Given the description of an element on the screen output the (x, y) to click on. 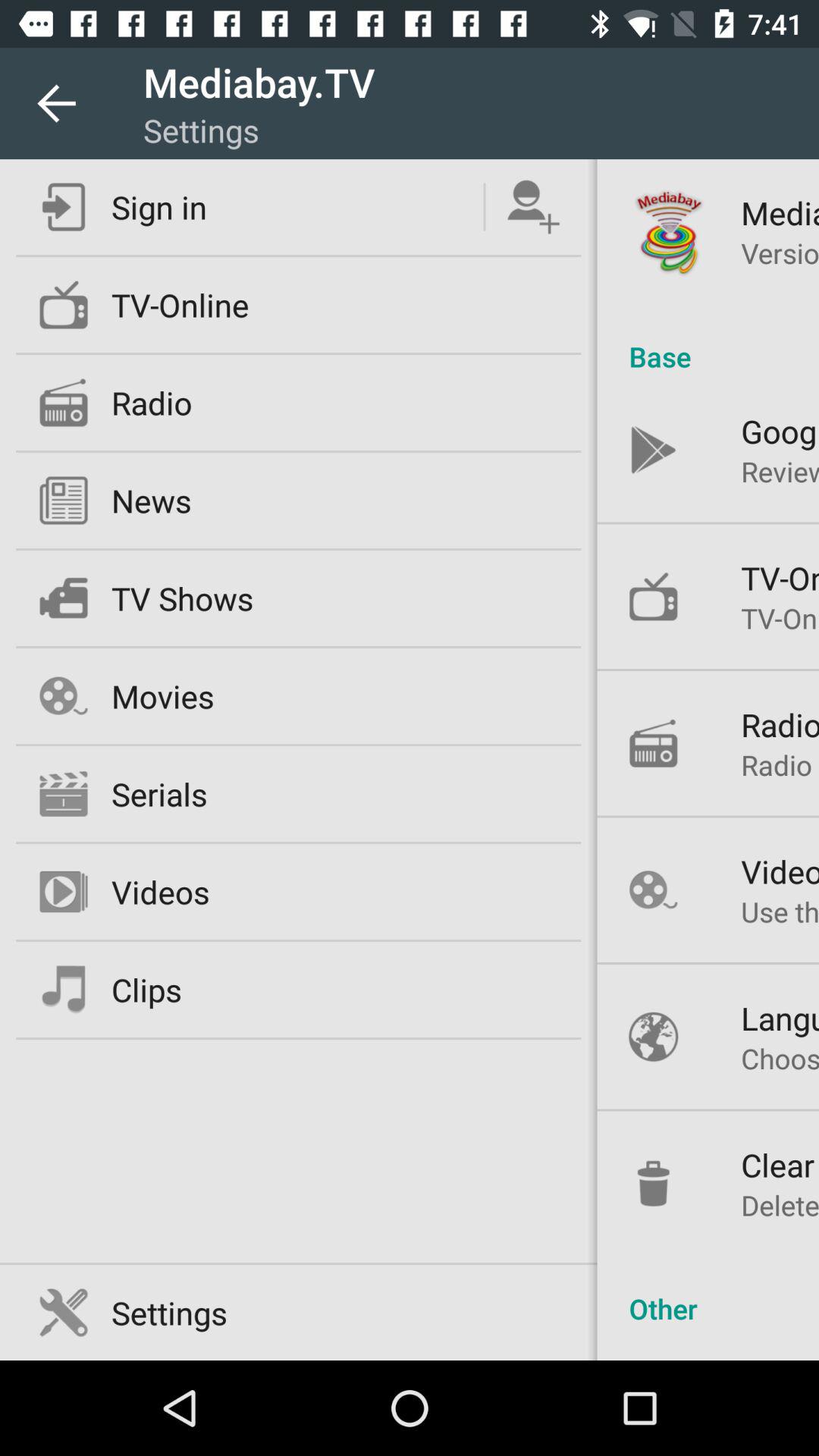
scroll until the clips (146, 989)
